Given the description of an element on the screen output the (x, y) to click on. 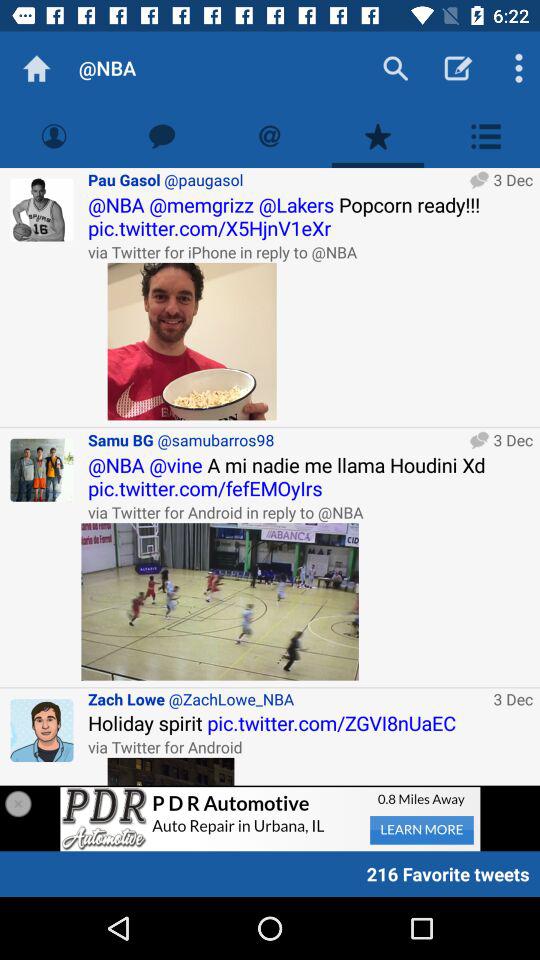
view image (170, 771)
